Given the description of an element on the screen output the (x, y) to click on. 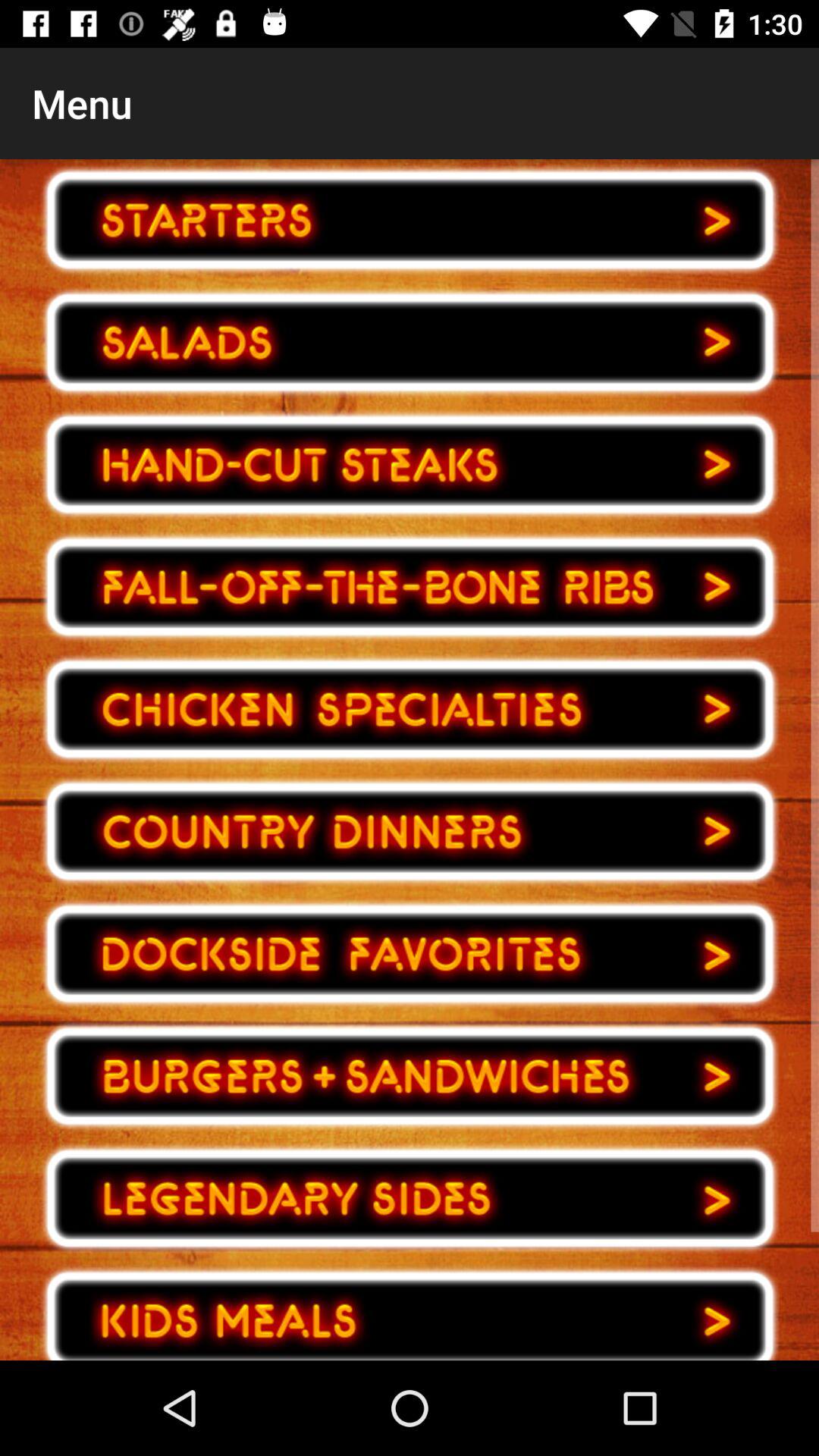
go to next (409, 464)
